Given the description of an element on the screen output the (x, y) to click on. 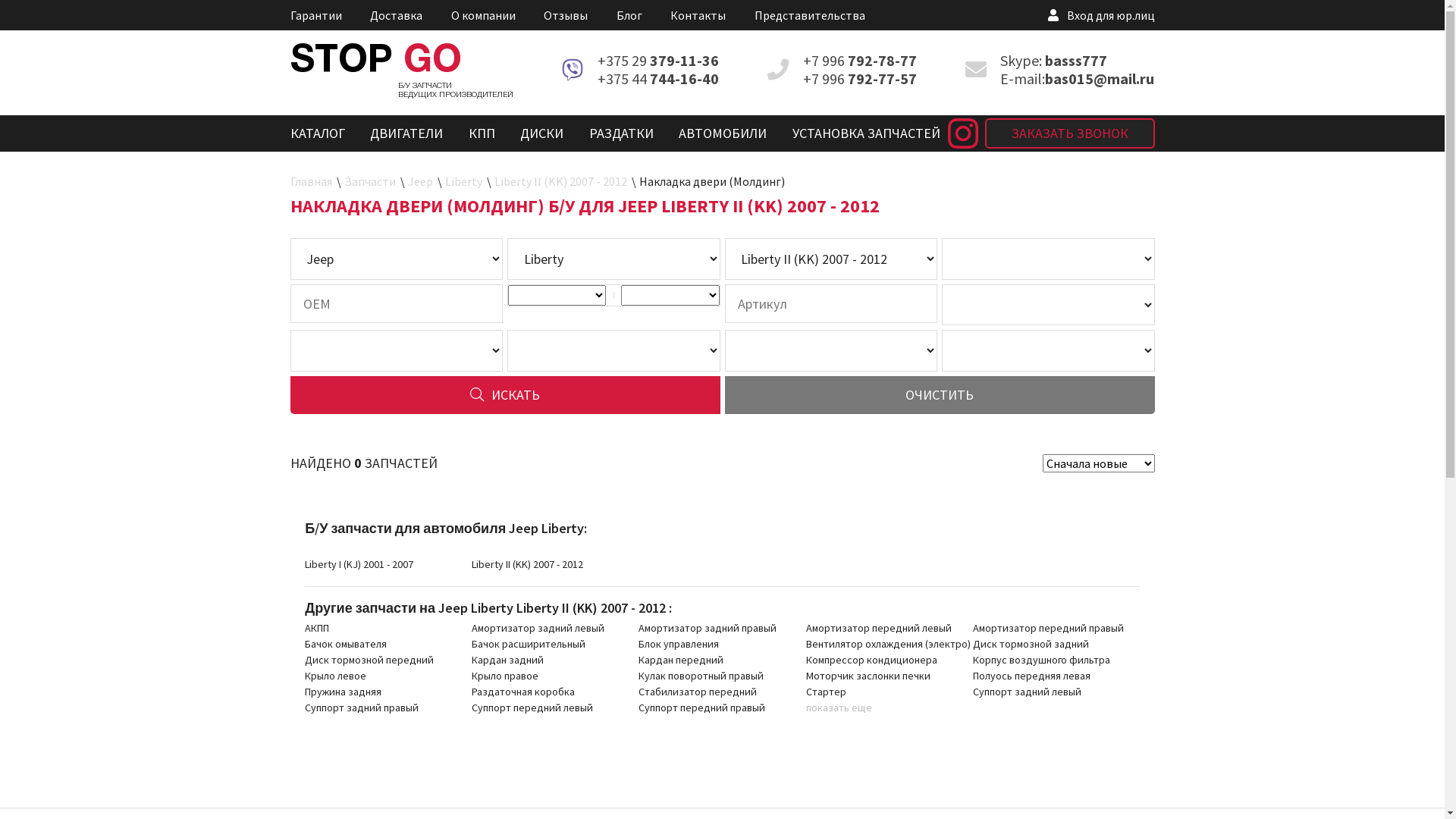
Liberty Element type: text (464, 180)
bas015@mail.ru Element type: text (1099, 78)
basss777 Element type: text (1075, 59)
Liberty I (KJ) 2001 - 2007 Element type: text (358, 564)
+7 996 792-77-57 Element type: text (859, 78)
+7 996 792-78-77 Element type: text (859, 59)
Liberty II (KK) 2007 - 2012 Element type: text (561, 180)
Liberty II (KK) 2007 - 2012 Element type: text (527, 564)
+375 29 379-11-36 Element type: text (657, 59)
+375 44 744-16-40 Element type: text (657, 78)
Jeep Element type: text (421, 180)
